Given the description of an element on the screen output the (x, y) to click on. 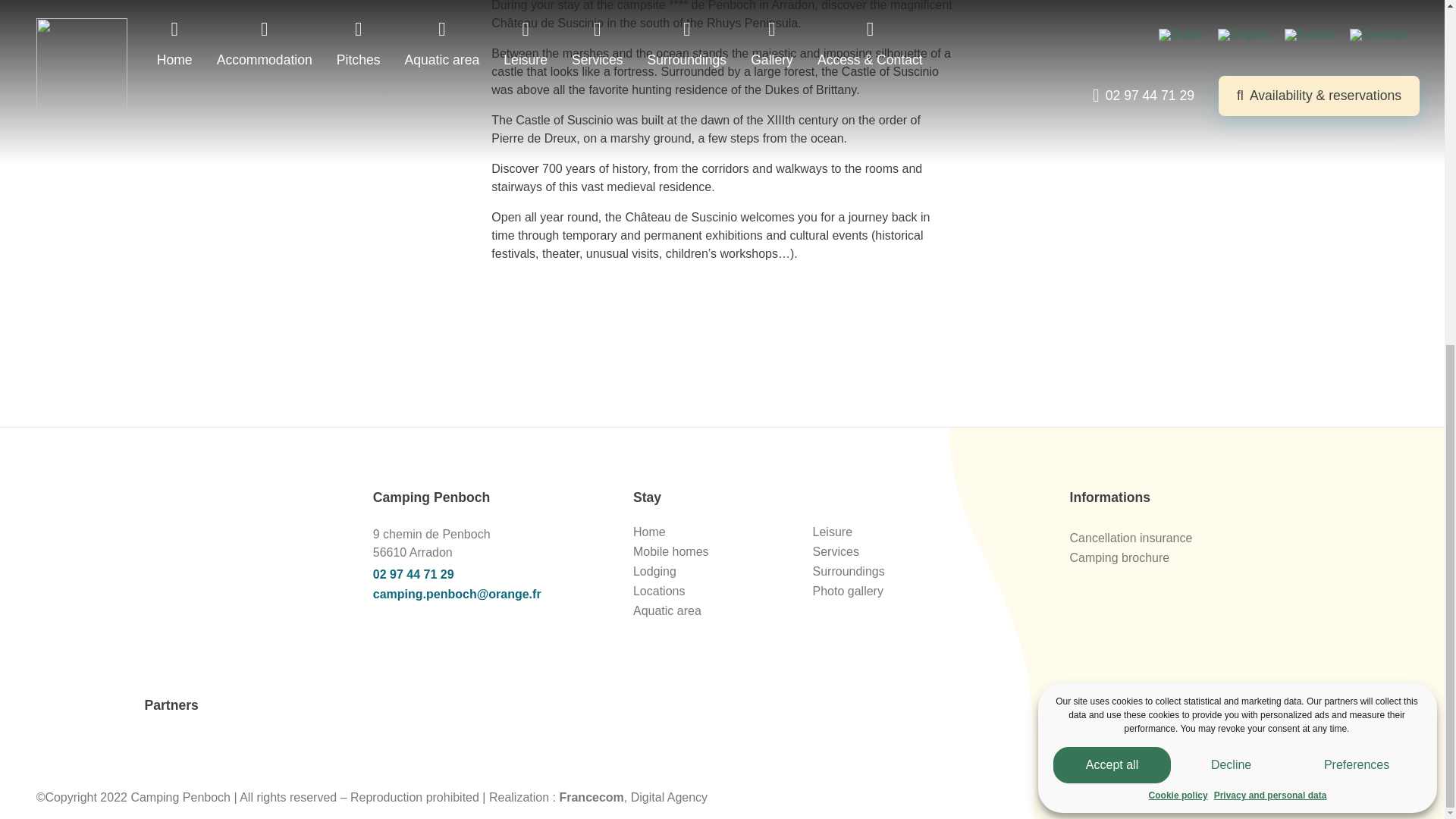
Accept all (1111, 313)
Preferences (1356, 248)
02 97 44 71 29 (488, 574)
Lodging (655, 571)
Home (649, 531)
Mobile homes (671, 551)
Privacy and personal data (1270, 223)
Decline (1230, 268)
Cookie policy (1178, 231)
